Given the description of an element on the screen output the (x, y) to click on. 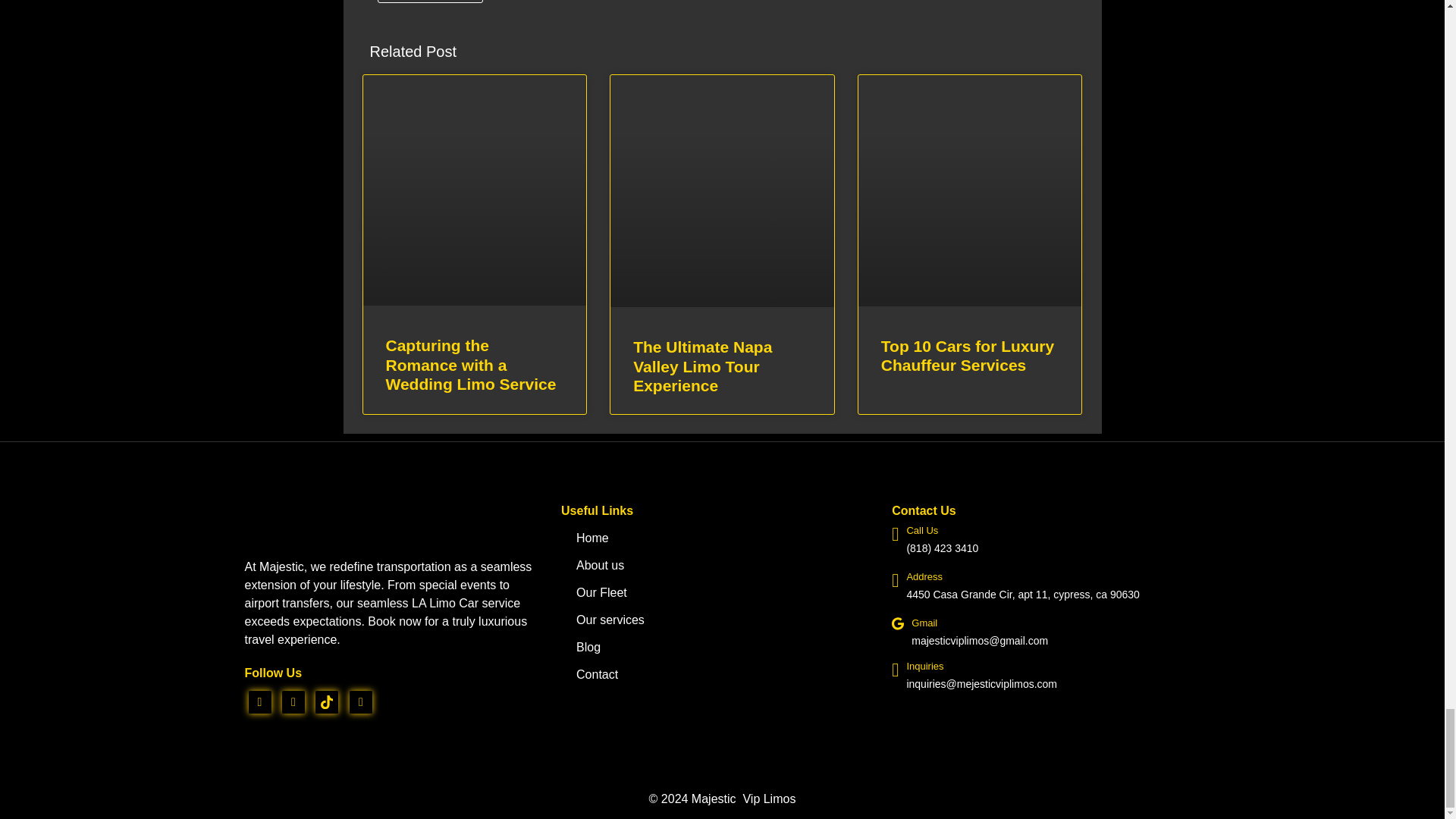
Post Comment (430, 1)
